Given the description of an element on the screen output the (x, y) to click on. 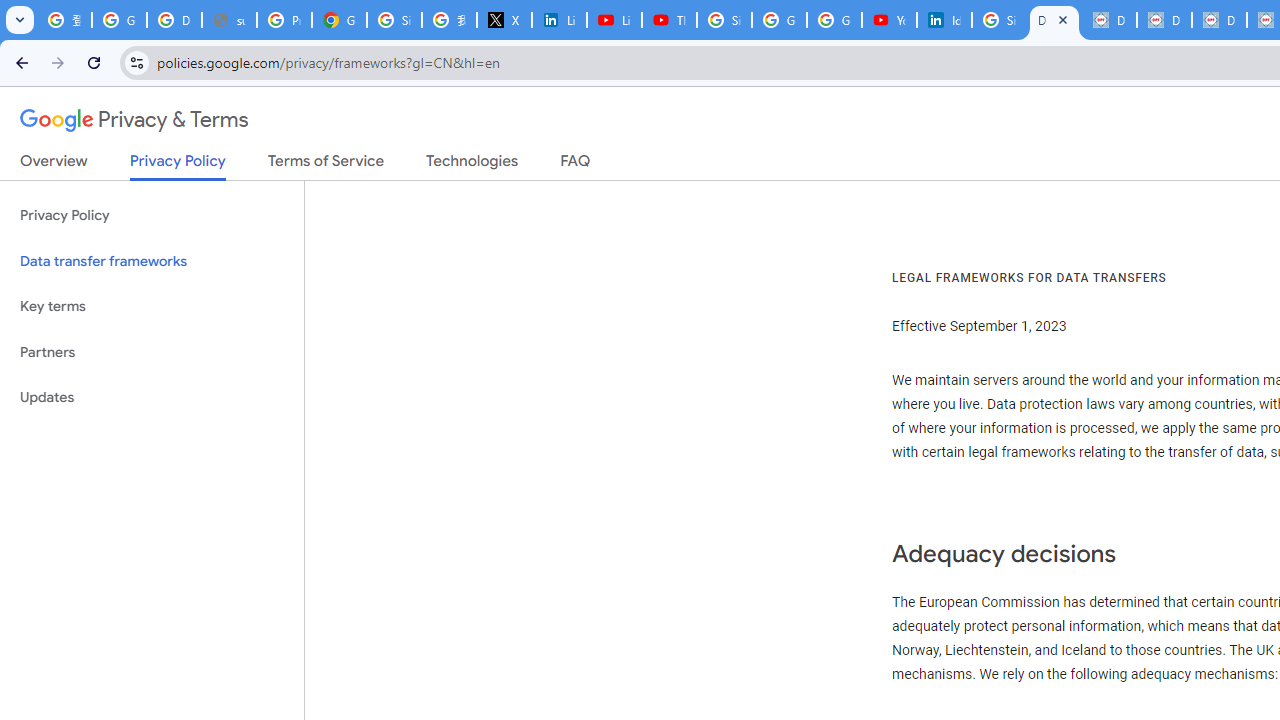
Sign in - Google Accounts (724, 20)
LinkedIn Privacy Policy (559, 20)
Data Privacy Framework (1163, 20)
X (504, 20)
